Given the description of an element on the screen output the (x, y) to click on. 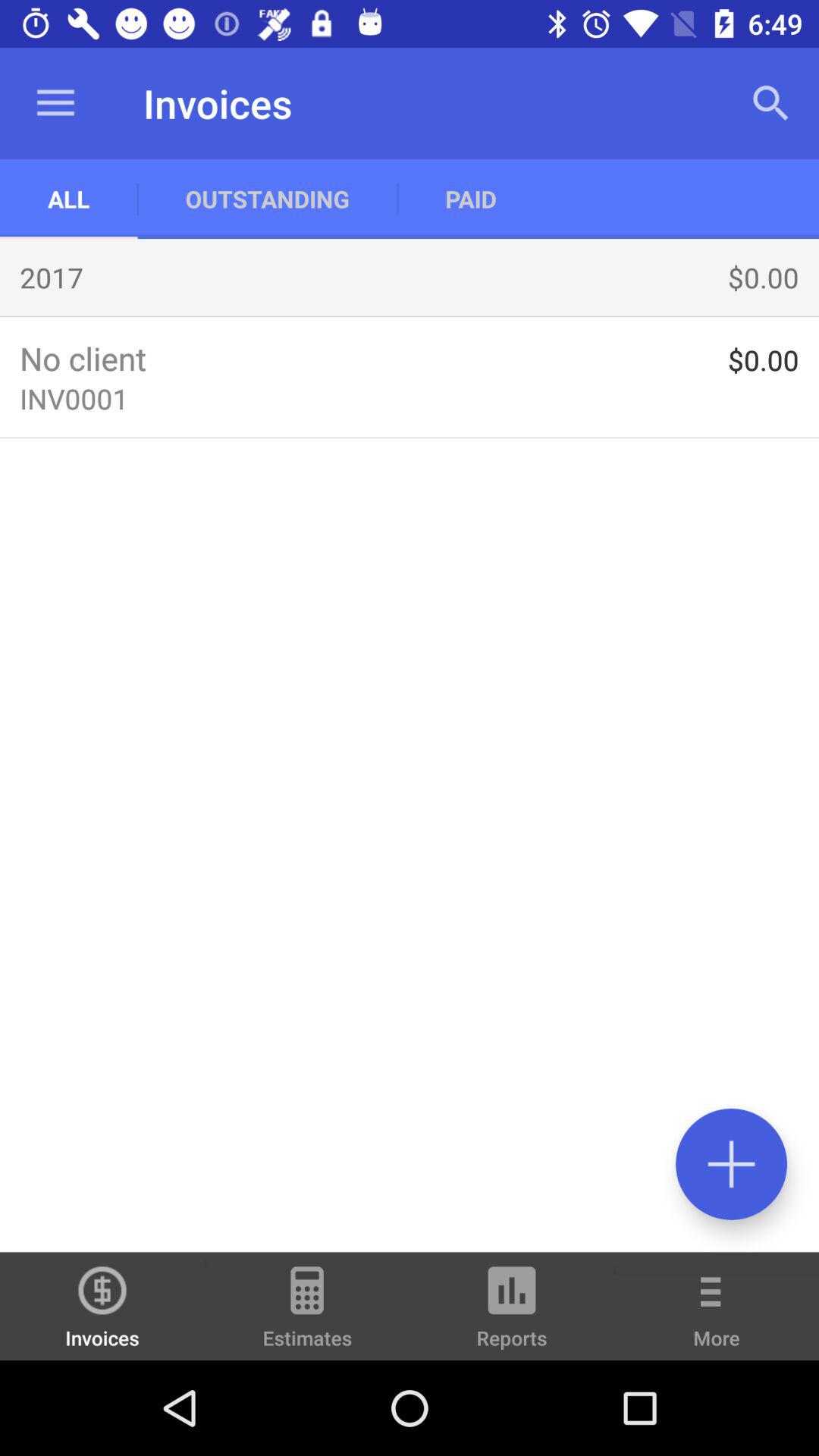
open the reports (511, 1313)
